Given the description of an element on the screen output the (x, y) to click on. 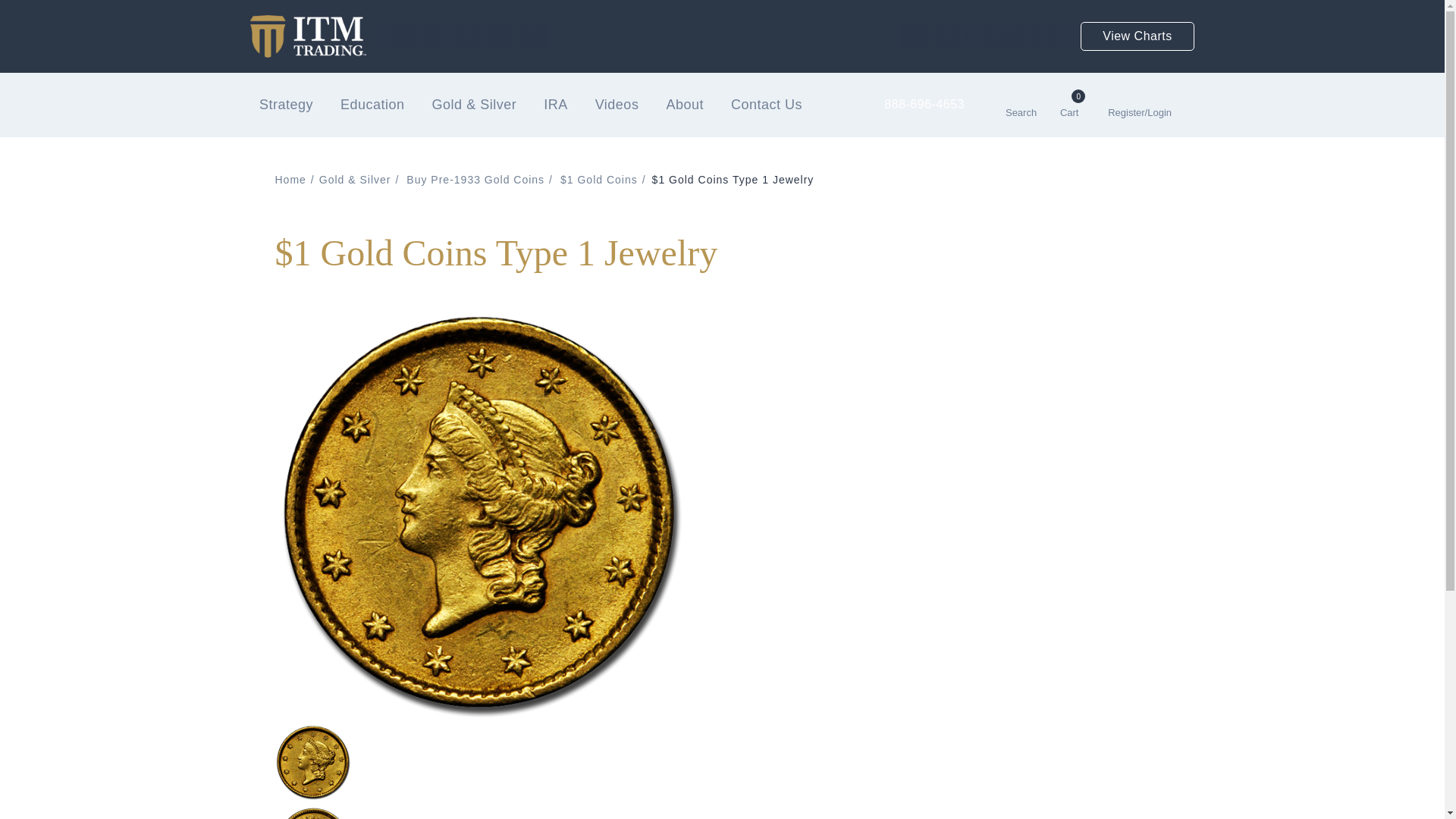
Education (372, 104)
View Charts (1136, 36)
Contact Us (766, 104)
About (684, 104)
Videos (616, 104)
Strategy (285, 104)
IRA (555, 104)
